Given the description of an element on the screen output the (x, y) to click on. 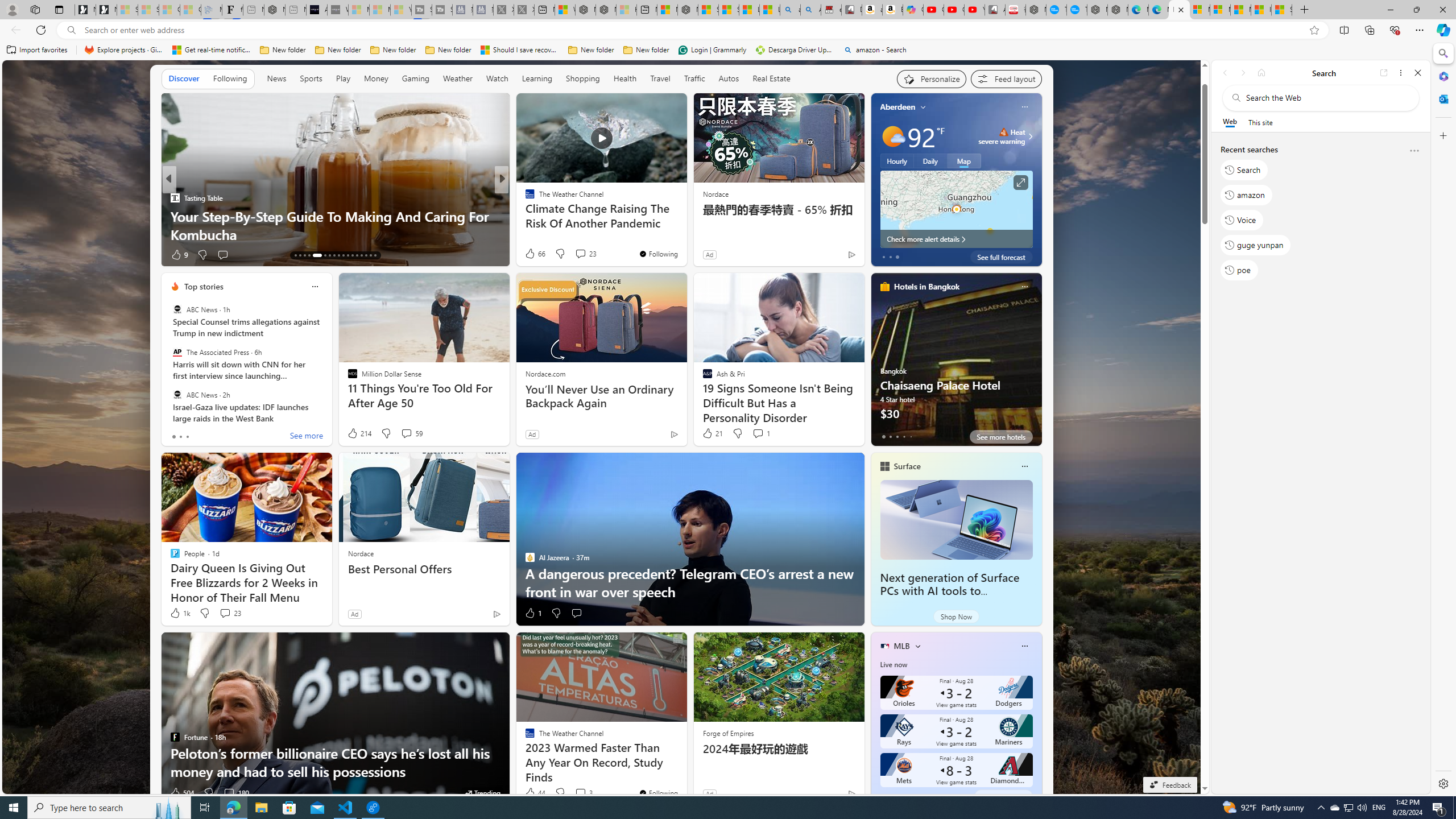
115 Like (532, 254)
The Associated Press (176, 352)
View comments 190 Comment (580, 254)
My location (922, 106)
AutomationID: tab-21 (338, 255)
View comments 23 Comment (224, 613)
This story is trending (481, 792)
